Given the description of an element on the screen output the (x, y) to click on. 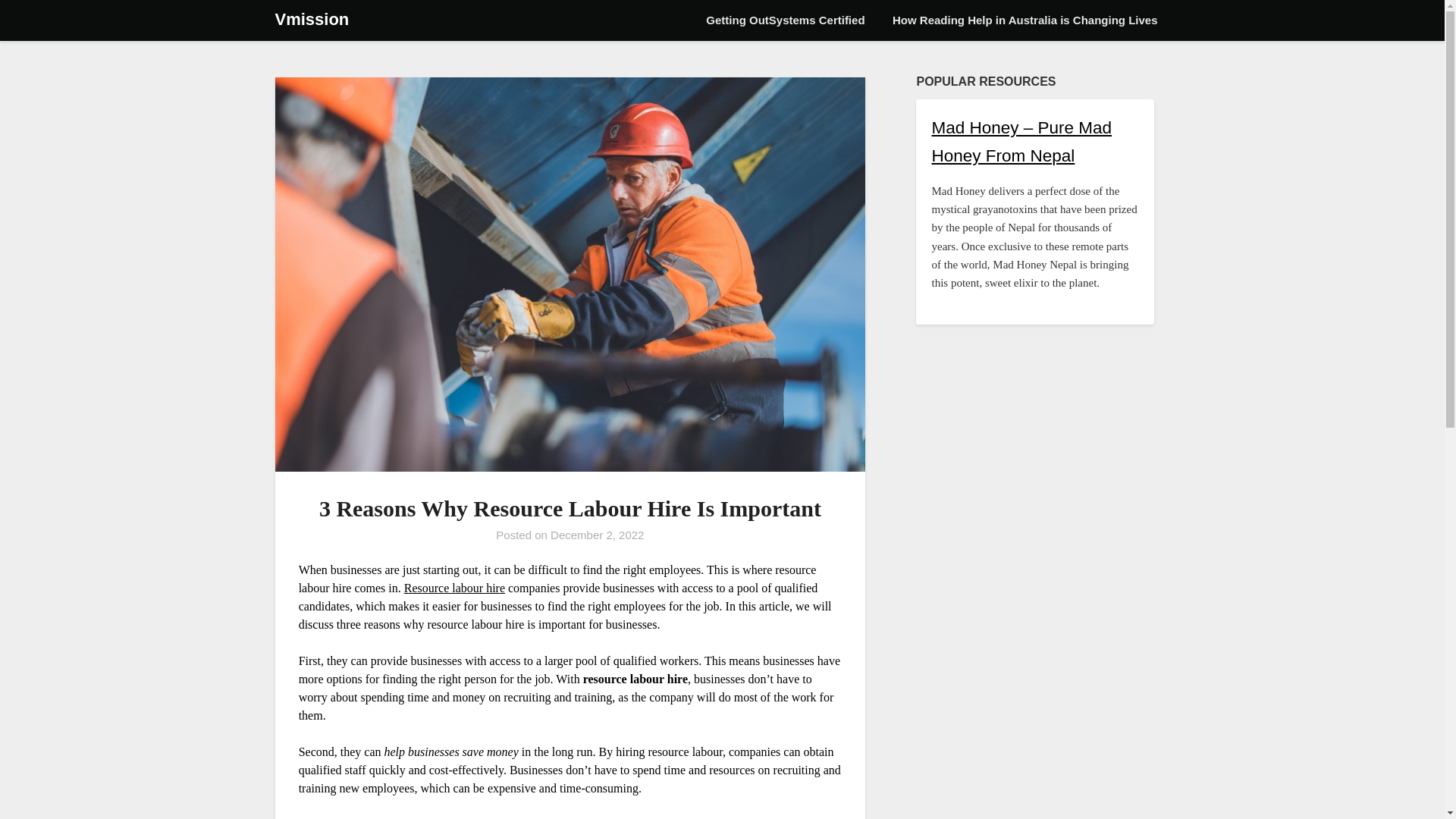
December 2, 2022 (596, 534)
Vmission (312, 19)
Getting OutSystems Certified (785, 20)
How Reading Help in Australia is Changing Lives (1025, 20)
Resource labour hire (454, 586)
